Given the description of an element on the screen output the (x, y) to click on. 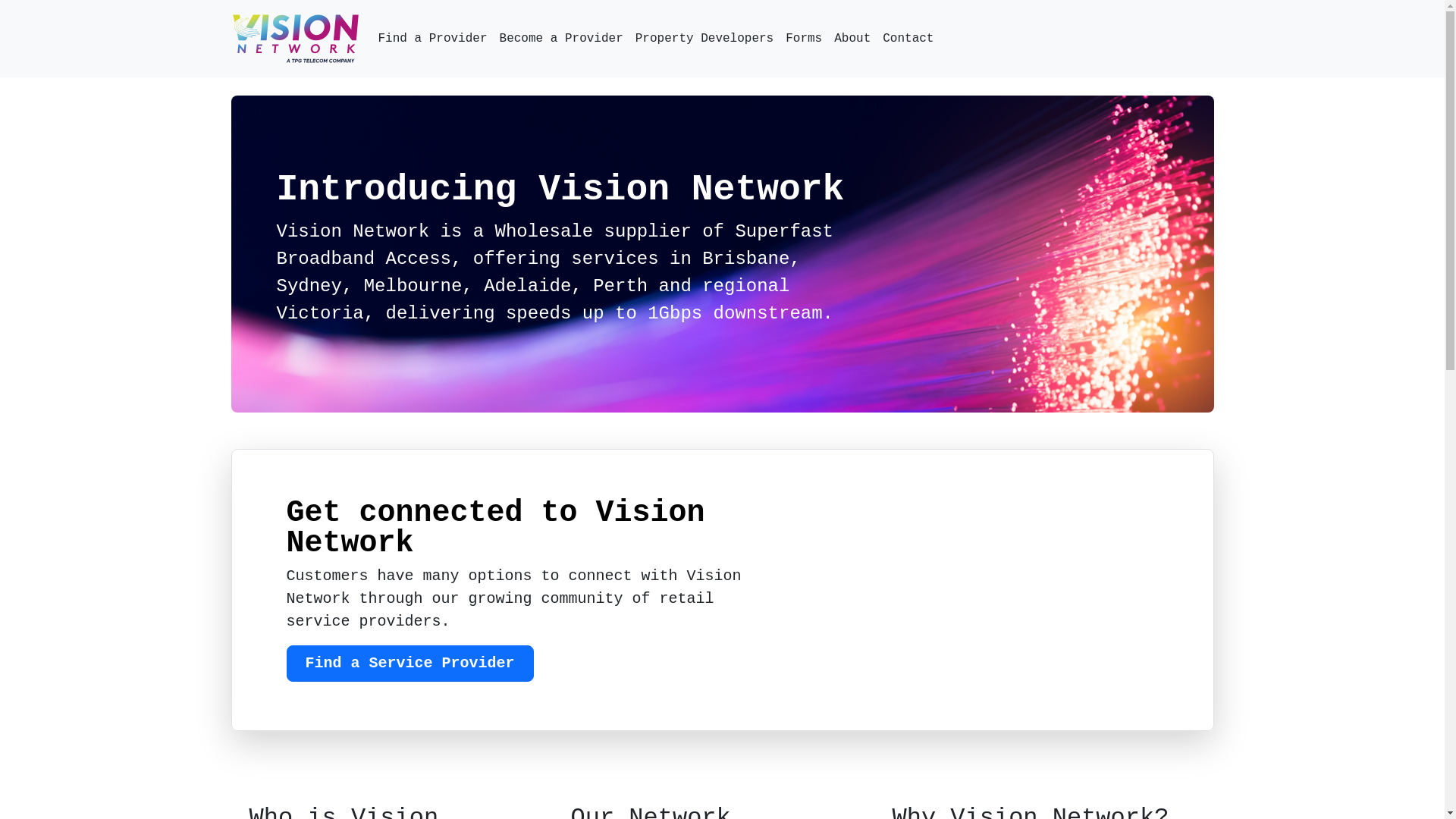
About Element type: text (852, 38)
Become a Provider Element type: text (561, 38)
Property Developers Element type: text (704, 38)
Forms Element type: text (803, 38)
Find a Provider Element type: text (431, 38)
Find a Service Provider Element type: text (409, 663)
Contact Element type: text (907, 38)
